Given the description of an element on the screen output the (x, y) to click on. 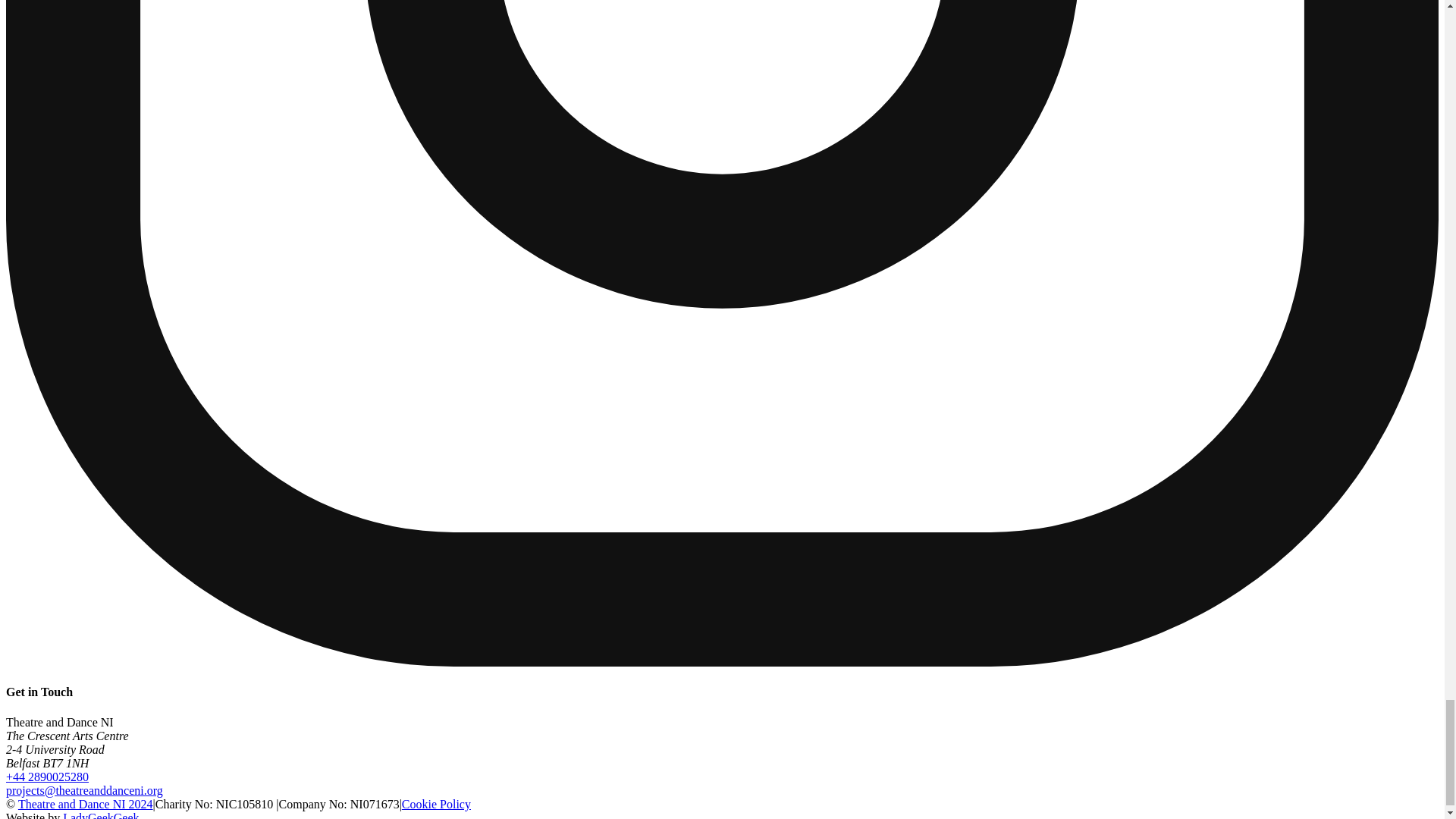
Cookie policy (435, 803)
Email our office (84, 789)
Phone us (46, 776)
